Given the description of an element on the screen output the (x, y) to click on. 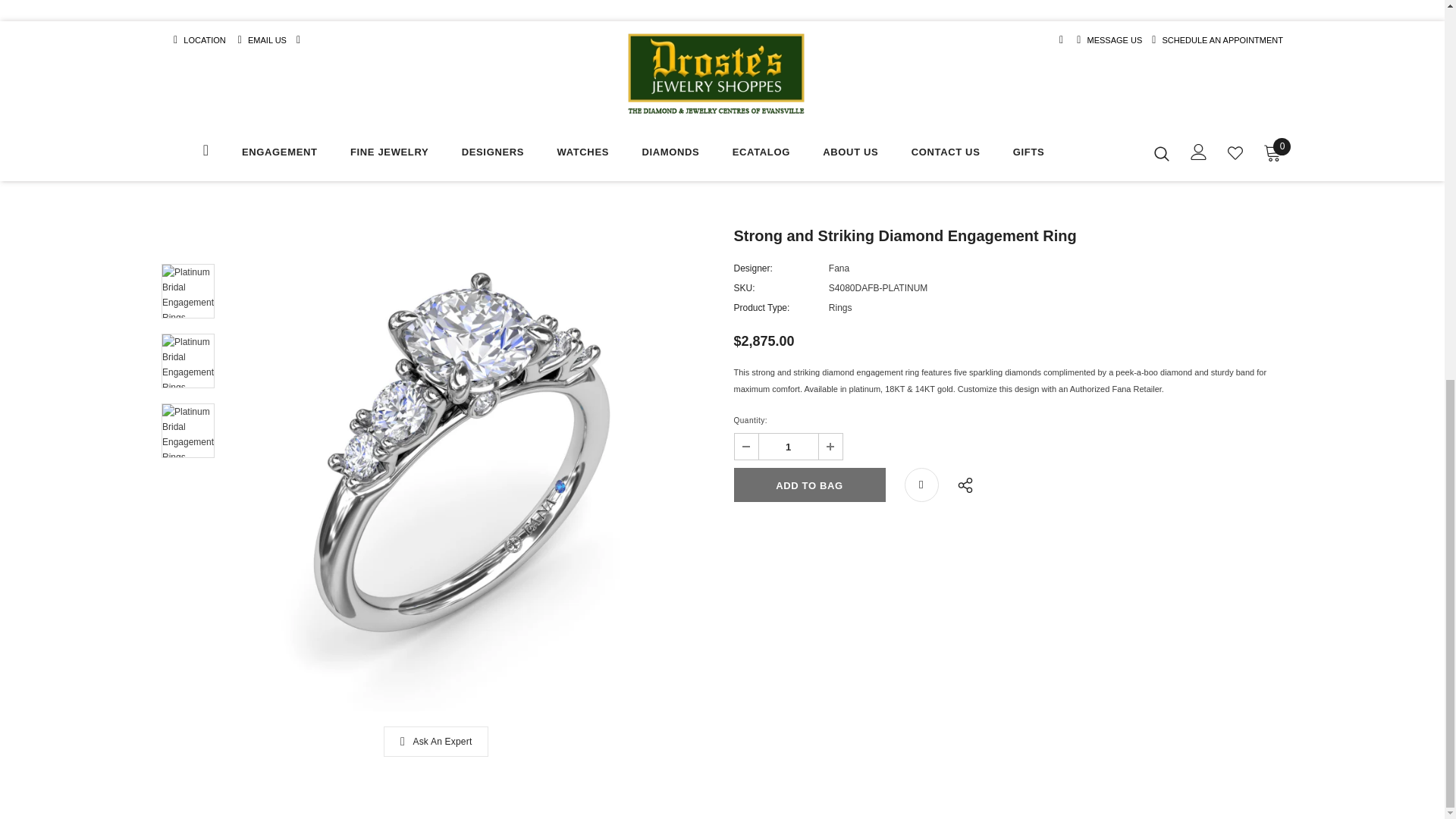
WATCHES (582, 153)
Search (1161, 152)
Droste's Jewelry Shoppes (716, 74)
FINE JEWELRY (389, 153)
ECATALOG (761, 153)
MESSAGE US (1115, 40)
SCHEDULE AN APPOINTMENT (1221, 40)
GIFTS (1029, 153)
DIAMONDS (670, 153)
LOCATION (205, 40)
